Given the description of an element on the screen output the (x, y) to click on. 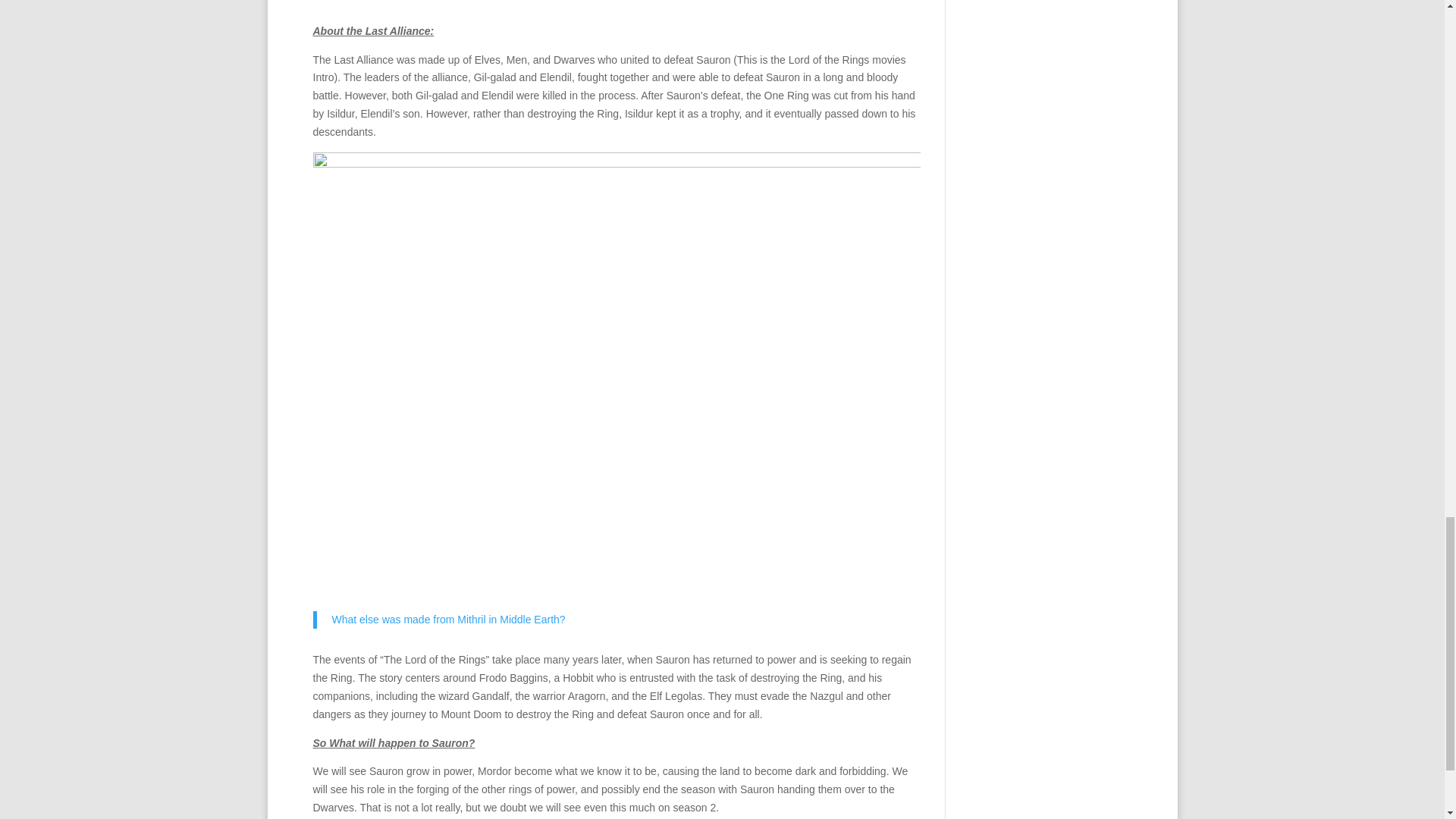
What else was made from Mithril in Middle Earth? (448, 619)
